Given the description of an element on the screen output the (x, y) to click on. 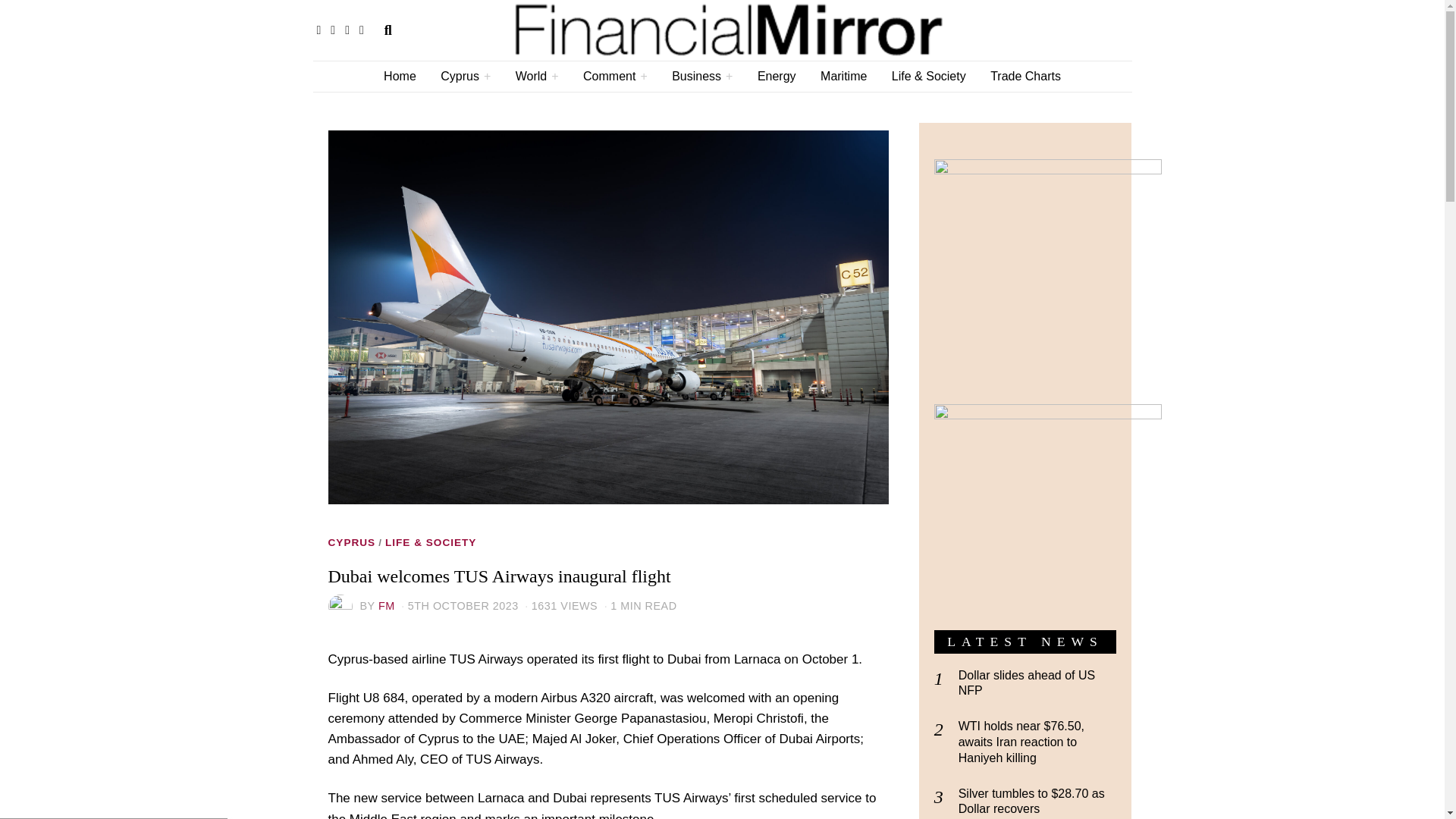
Maritime (843, 76)
Cyprus (464, 76)
Home (399, 76)
CYPRUS (351, 543)
Business (701, 76)
Trade Charts (1025, 76)
1631 views (558, 605)
Comment (615, 76)
World (537, 76)
FM (386, 605)
Energy (776, 76)
